Given the description of an element on the screen output the (x, y) to click on. 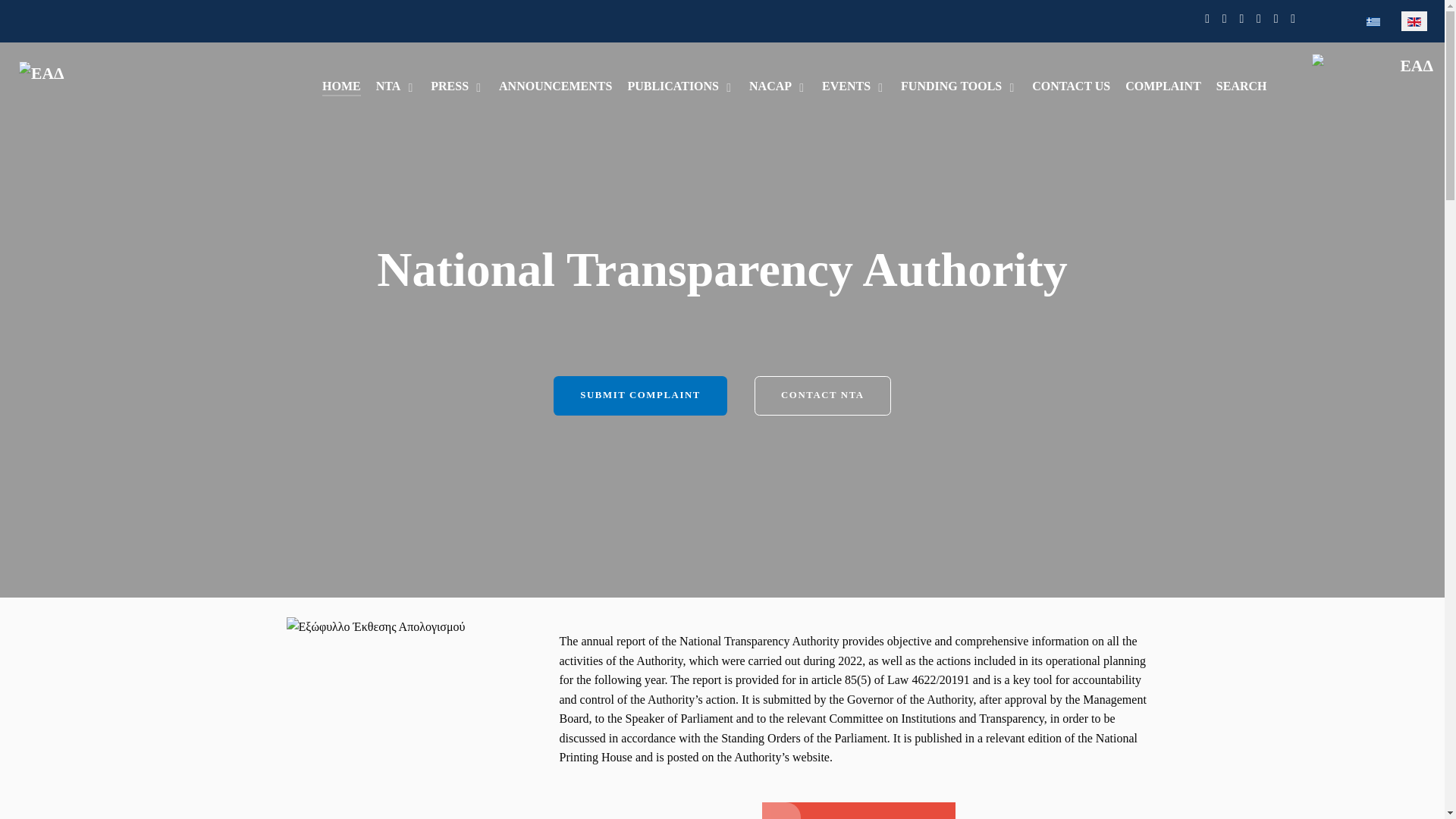
ANNOUNCEMENTS (555, 86)
NTA (395, 86)
HOME (341, 86)
